Given the description of an element on the screen output the (x, y) to click on. 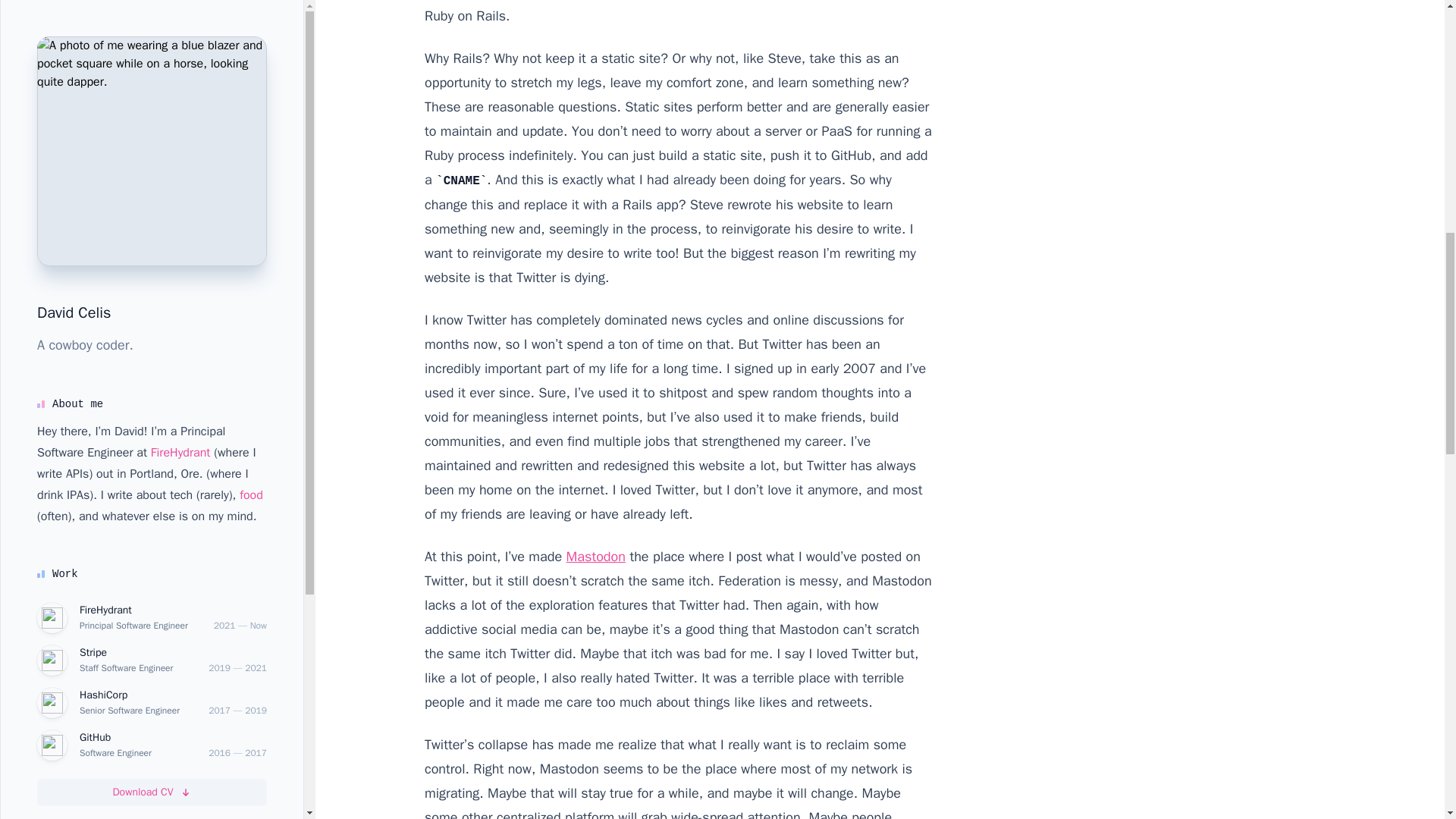
GitHub (71, 178)
Bluesky (74, 105)
Mastodon (596, 556)
Instagram (80, 214)
Mastodon (80, 68)
RSS Feeds (82, 250)
Threads (75, 141)
